Given the description of an element on the screen output the (x, y) to click on. 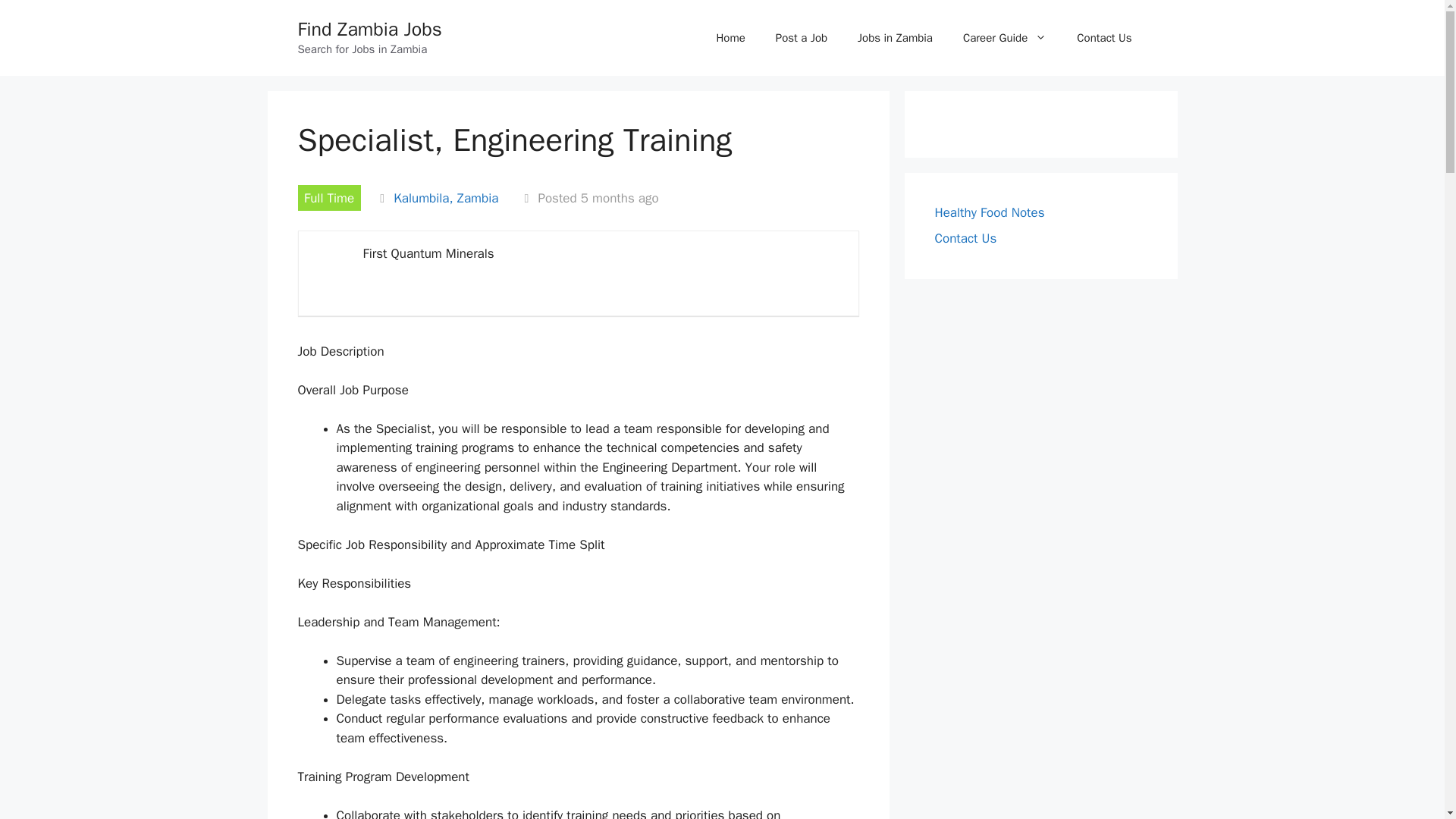
Contact Us (1104, 37)
Kalumbila, Zambia (445, 198)
Post a Job (801, 37)
Find Zambia Jobs (369, 28)
Contact Us (964, 238)
Healthy Food Notes (988, 212)
Jobs in Zambia (895, 37)
Career Guide (1004, 37)
Home (730, 37)
